Given the description of an element on the screen output the (x, y) to click on. 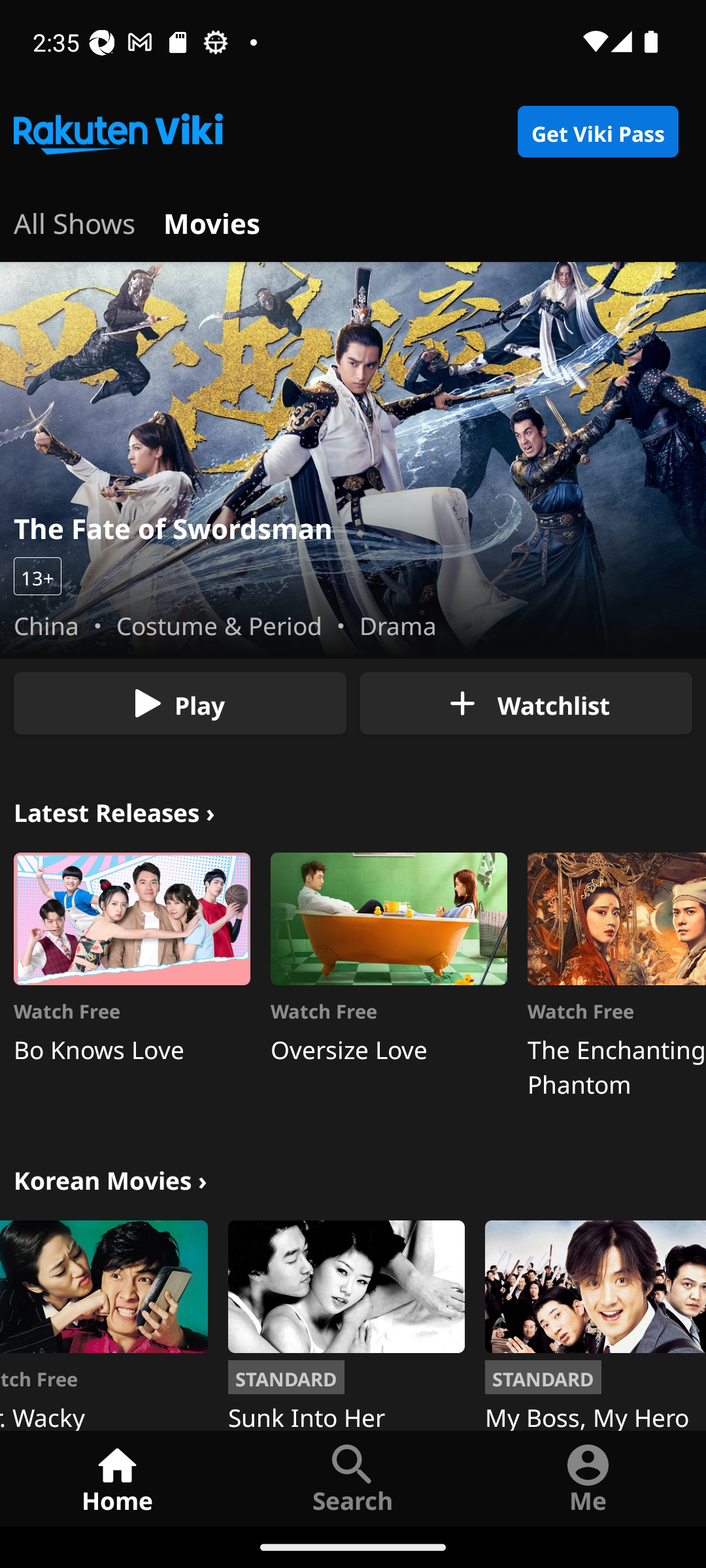
Get Viki Pass (597, 131)
home_tab_all_shows All Shows (74, 220)
Play home_billboard_play_button (179, 702)
Watchlist home_billboard_add_to_watchlist_button (526, 702)
Latest Releases › latest_releases_movies (114, 809)
Korean Movies › korean_movies_trending (110, 1178)
Search (352, 1478)
Me (588, 1478)
